Given the description of an element on the screen output the (x, y) to click on. 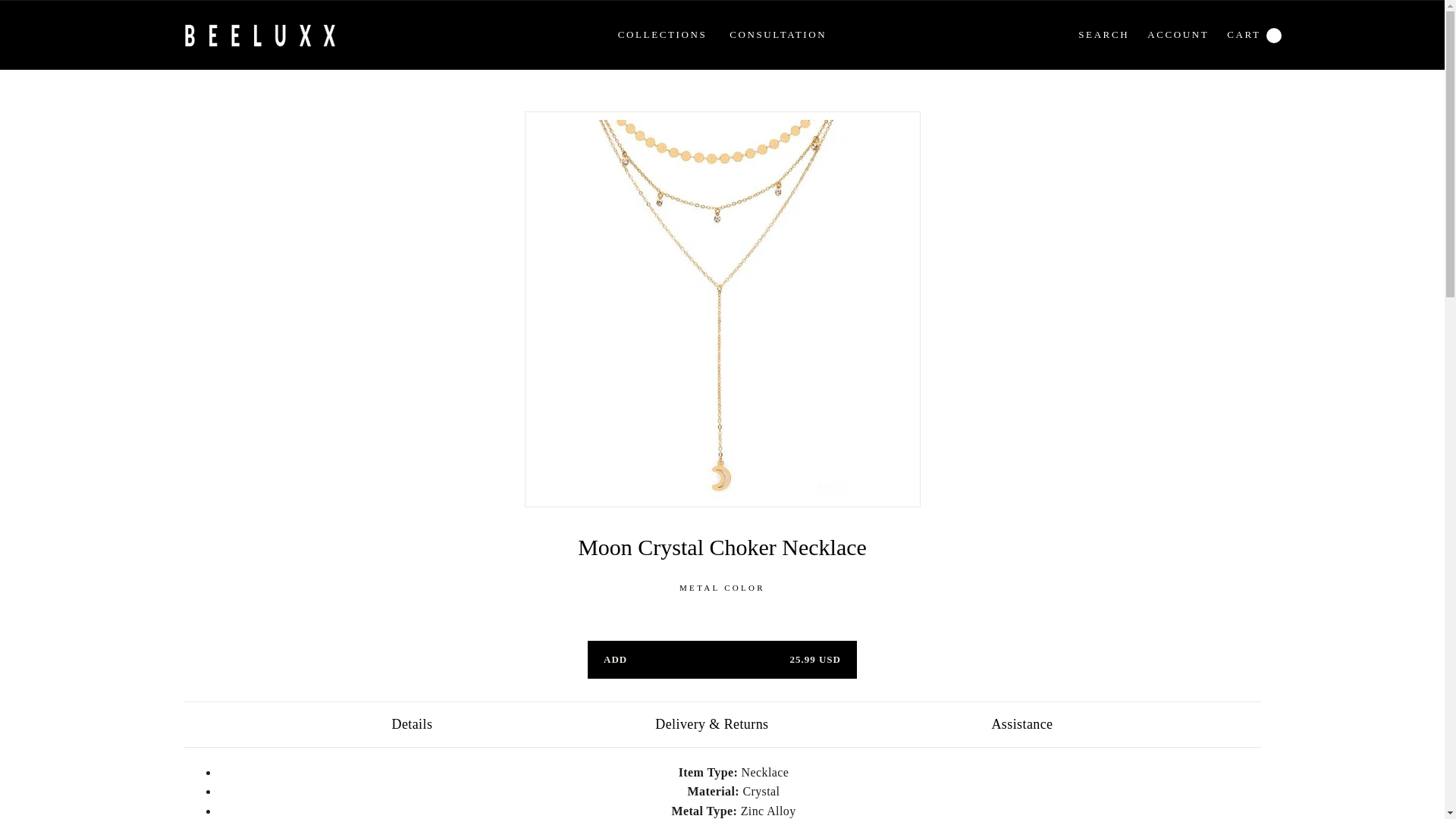
SEARCH (1103, 35)
Details (410, 723)
Assistance (1021, 723)
CART (722, 659)
Skip to content (1243, 35)
Silver Plated (662, 35)
ACCOUNT (777, 35)
